Given the description of an element on the screen output the (x, y) to click on. 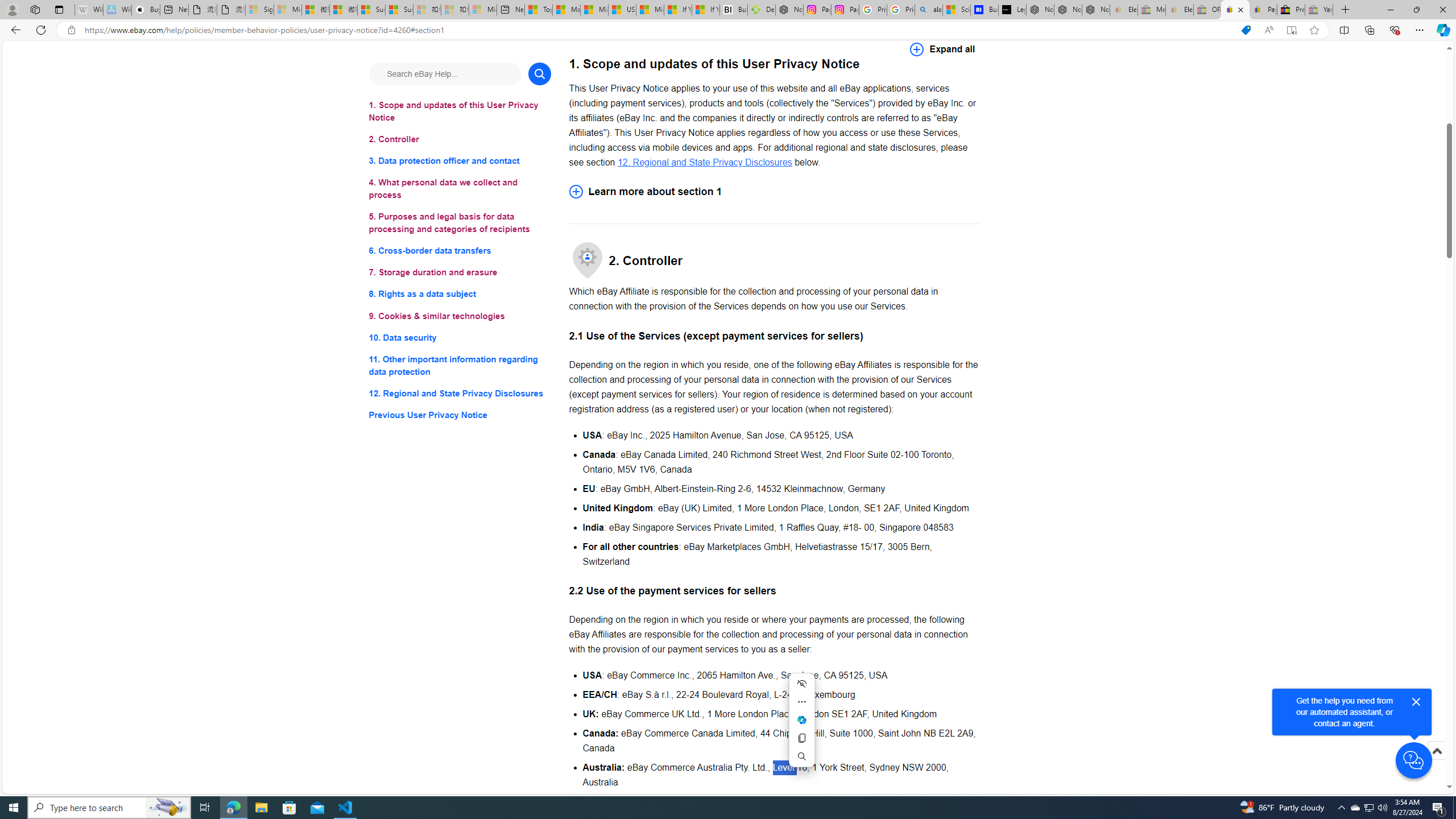
8. Rights as a data subject (459, 293)
Wikipedia - Sleeping (88, 9)
2. Controller (459, 138)
9. Cookies & similar technologies (459, 315)
1. Scope and updates of this User Privacy Notice (459, 111)
10. Data security (459, 336)
11. Other important information regarding data protection (459, 365)
Hide menu (801, 683)
Top Stories - MSN (538, 9)
Previous User Privacy Notice (459, 414)
